Given the description of an element on the screen output the (x, y) to click on. 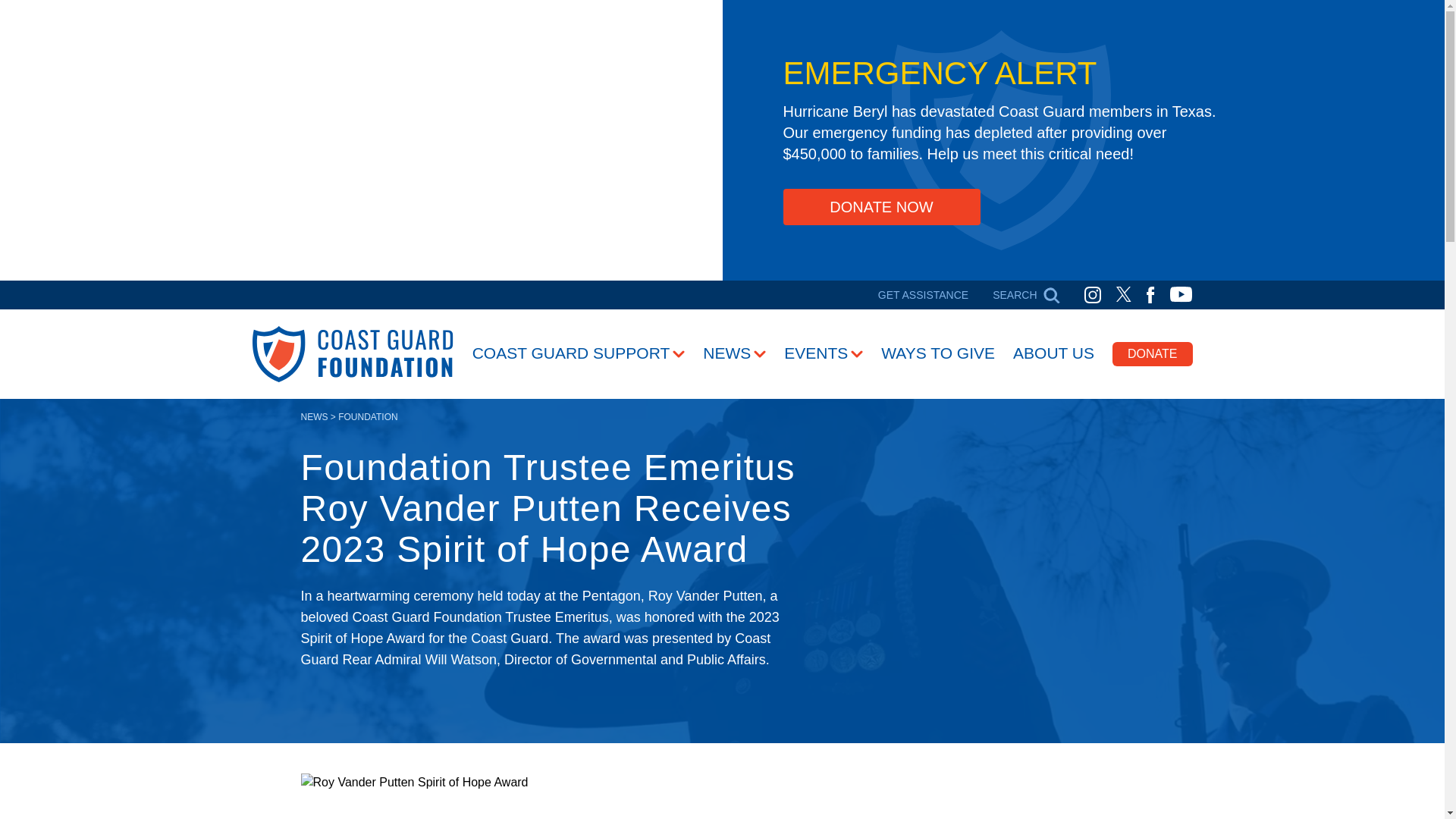
DONATE (1152, 354)
DONATE NOW (881, 207)
ABOUT US (1053, 353)
COAST GUARD SUPPORT (578, 353)
WAYS TO GIVE (937, 353)
SEARCH (1025, 294)
GET ASSISTANCE (922, 294)
